Given the description of an element on the screen output the (x, y) to click on. 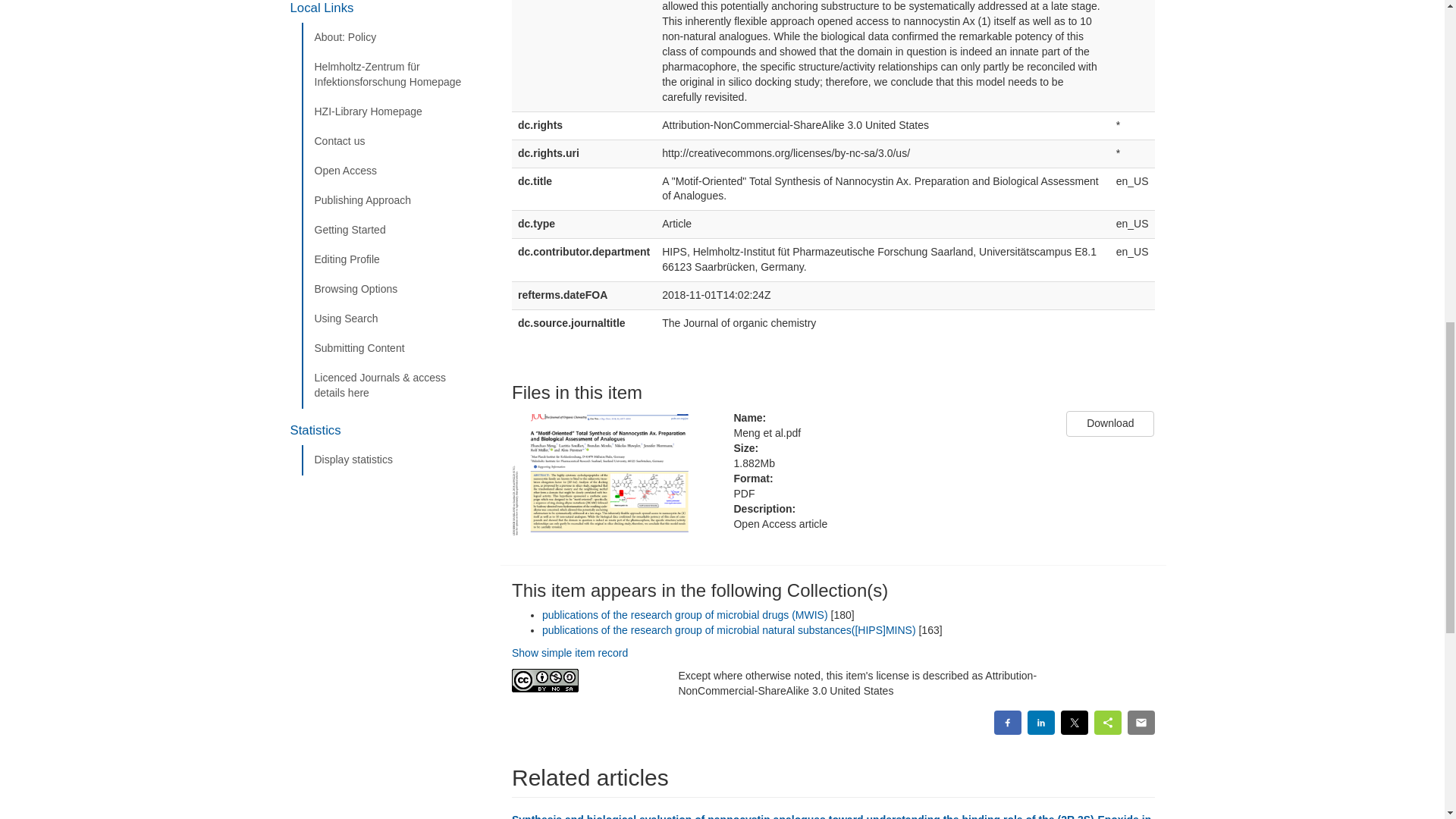
About: Policy (395, 37)
Meng et al.pdf (888, 433)
HZI-Library Homepage (395, 112)
Open Access article (888, 524)
Publishing Approach (395, 200)
Contact us (395, 141)
Attribution-NonCommercial-ShareAlike 3.0 United States (583, 680)
Open Access (395, 171)
